Given the description of an element on the screen output the (x, y) to click on. 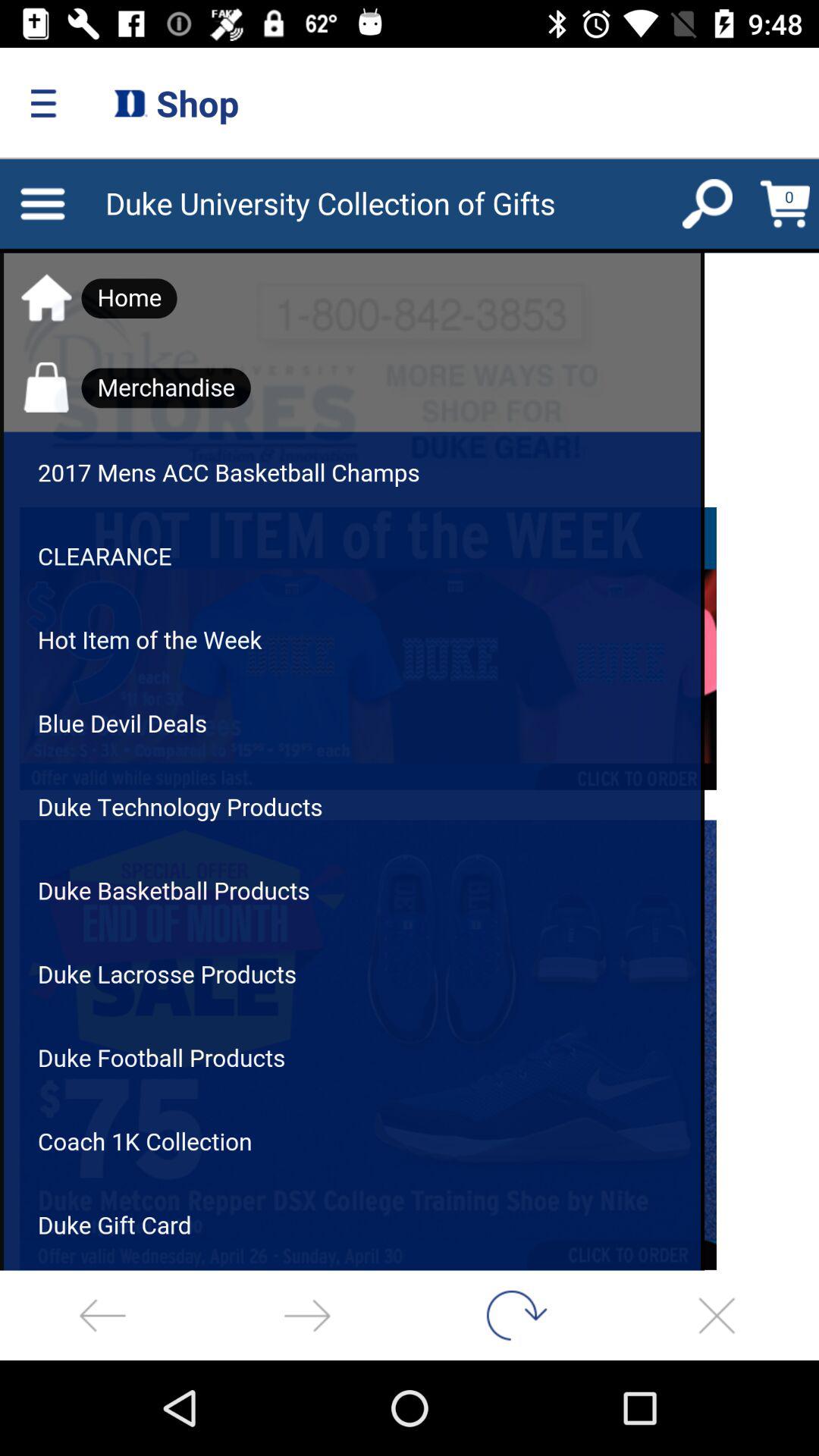
go to previous go back (102, 1315)
